Given the description of an element on the screen output the (x, y) to click on. 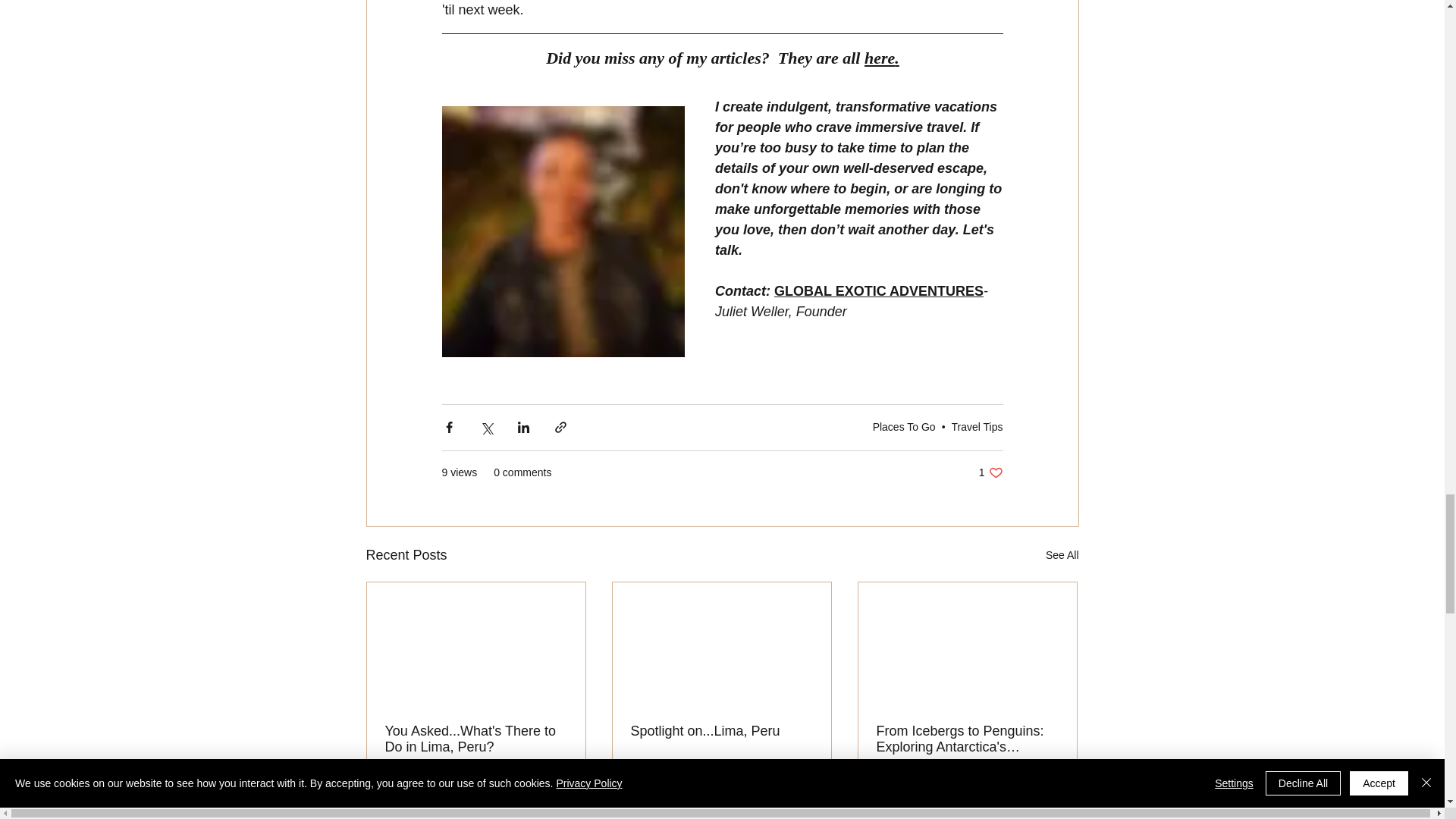
Post not marked as liked (558, 791)
Places To Go (904, 426)
0 (681, 791)
Travel Tips (990, 472)
You Asked...What's There to Do in Lima, Peru? (977, 426)
See All (476, 739)
Spotlight on...Lima, Peru (1061, 555)
Post not marked as liked (721, 731)
